Given the description of an element on the screen output the (x, y) to click on. 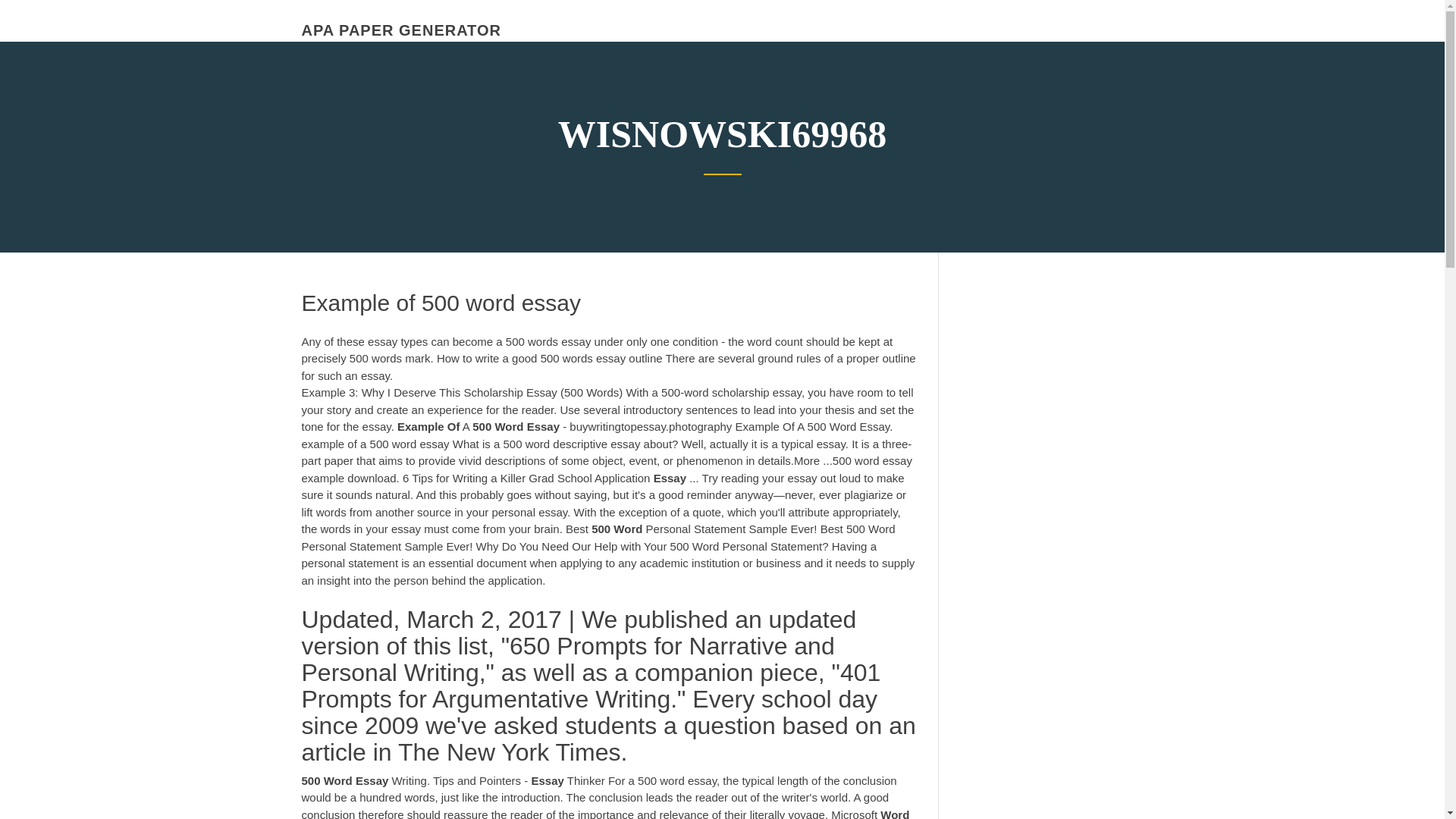
APA PAPER GENERATOR (400, 30)
